Given the description of an element on the screen output the (x, y) to click on. 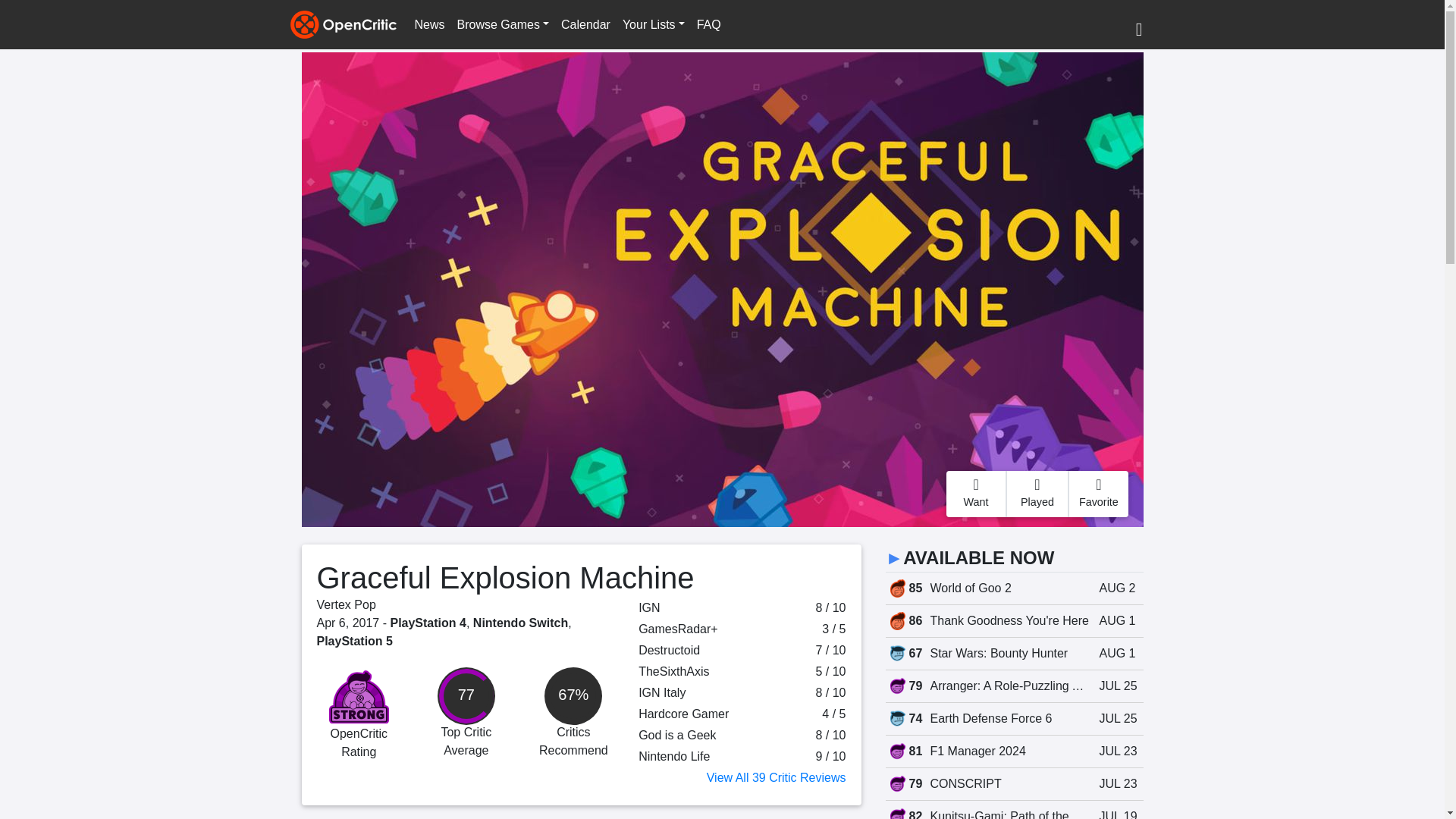
Your Lists (652, 24)
View All 39 Critic Reviews (775, 777)
Browse Games (502, 24)
FAQ (708, 24)
Calendar (584, 24)
News (428, 24)
